Given the description of an element on the screen output the (x, y) to click on. 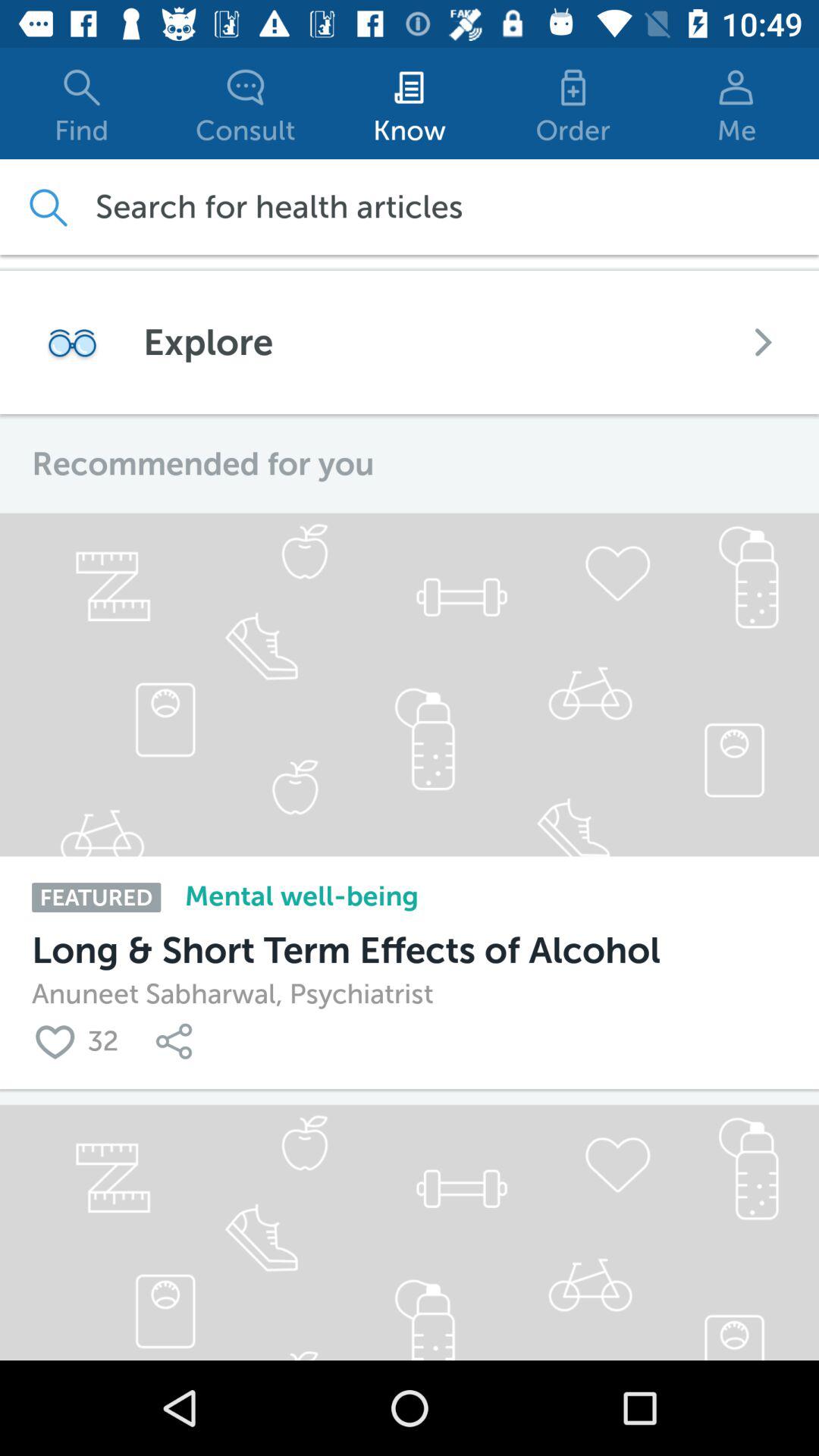
toggle search option (47, 206)
